Given the description of an element on the screen output the (x, y) to click on. 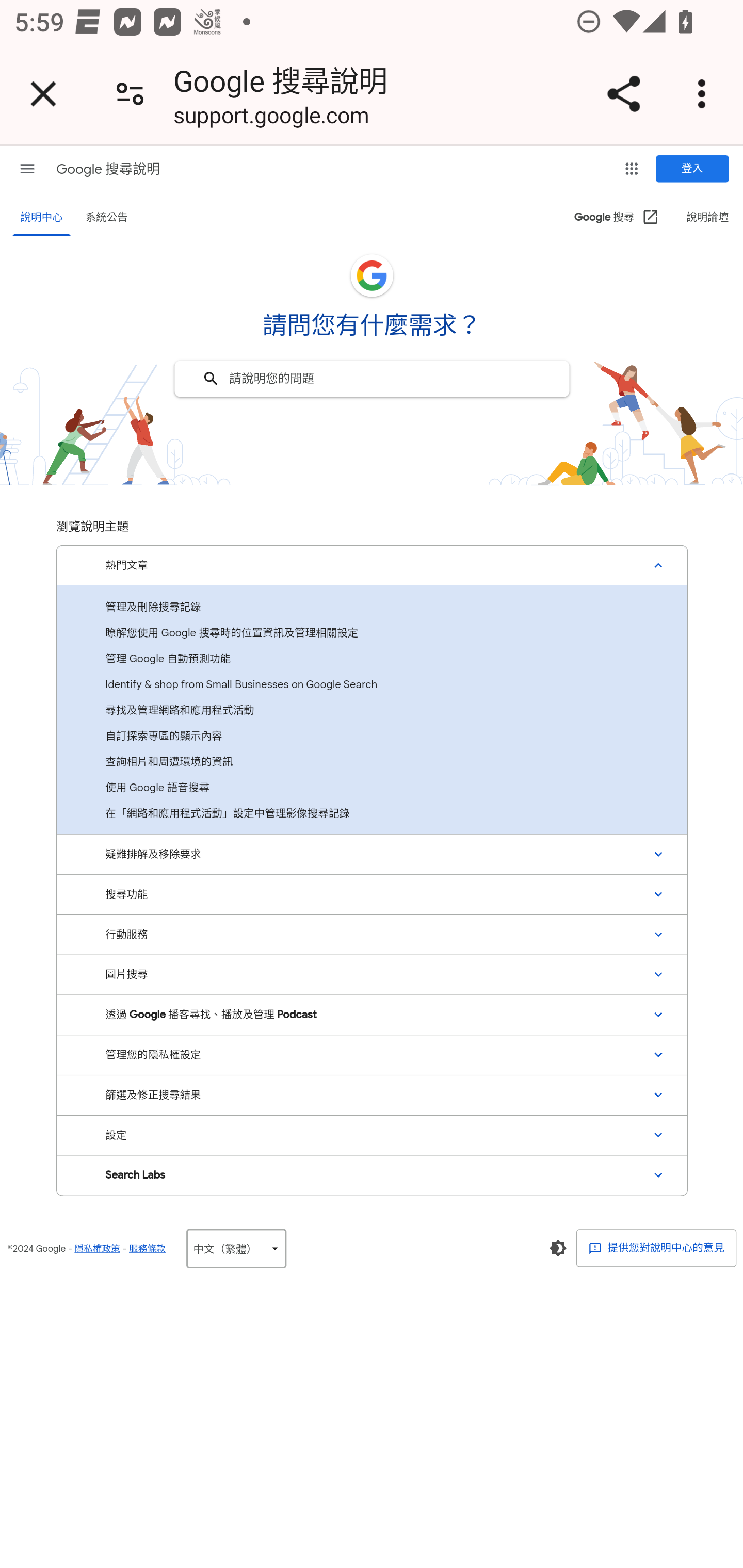
Close tab (43, 93)
Share (623, 93)
Customize and control Google Chrome (705, 93)
Connection is secure (129, 93)
support.google.com (271, 117)
主選單 (27, 168)
Google 搜尋說明 (107, 169)
Google 應用程式 (631, 168)
登入 (692, 169)
說明中心 (41, 217)
系統公告 (105, 217)
Google 搜尋 (在新視窗中開啟) Google 搜尋 (616, 217)
說明論壇 (707, 217)
搜尋 (210, 377)
熱門文章, 展開含有 9 個項目的清單 (371, 564)
管理及刪除搜尋記錄 (371, 606)
瞭解您使用 Google 搜尋時的位置資訊及管理相關設定 (371, 632)
管理 Google 自動預測功能 (371, 658)
尋找及管理網路和應用程式活動 (371, 709)
自訂探索專區的顯示內容 (371, 735)
查詢相片和周遭環境的資訊 (371, 760)
使用 Google 語音搜尋 (371, 787)
在「網路和應用程式活動」設定中管理影像搜尋記錄 (371, 812)
疑難排解及移除要求 (371, 854)
搜尋功能 (371, 894)
行動服務 (371, 934)
圖片搜尋 (371, 974)
透過 Google 播客尋找、播放及管理 Podcast (371, 1014)
管理您的隱私權設定 (371, 1054)
篩選及修正搜尋結果 (371, 1094)
設定 (371, 1134)
Search Labs (371, 1174)
選取語言 (中文（繁體）‎) (235, 1247)
 提供您對說明中心的意見 (656, 1247)
啟用深色模式 (557, 1247)
隱私權政策 (97, 1247)
服務條款 (146, 1247)
